Given the description of an element on the screen output the (x, y) to click on. 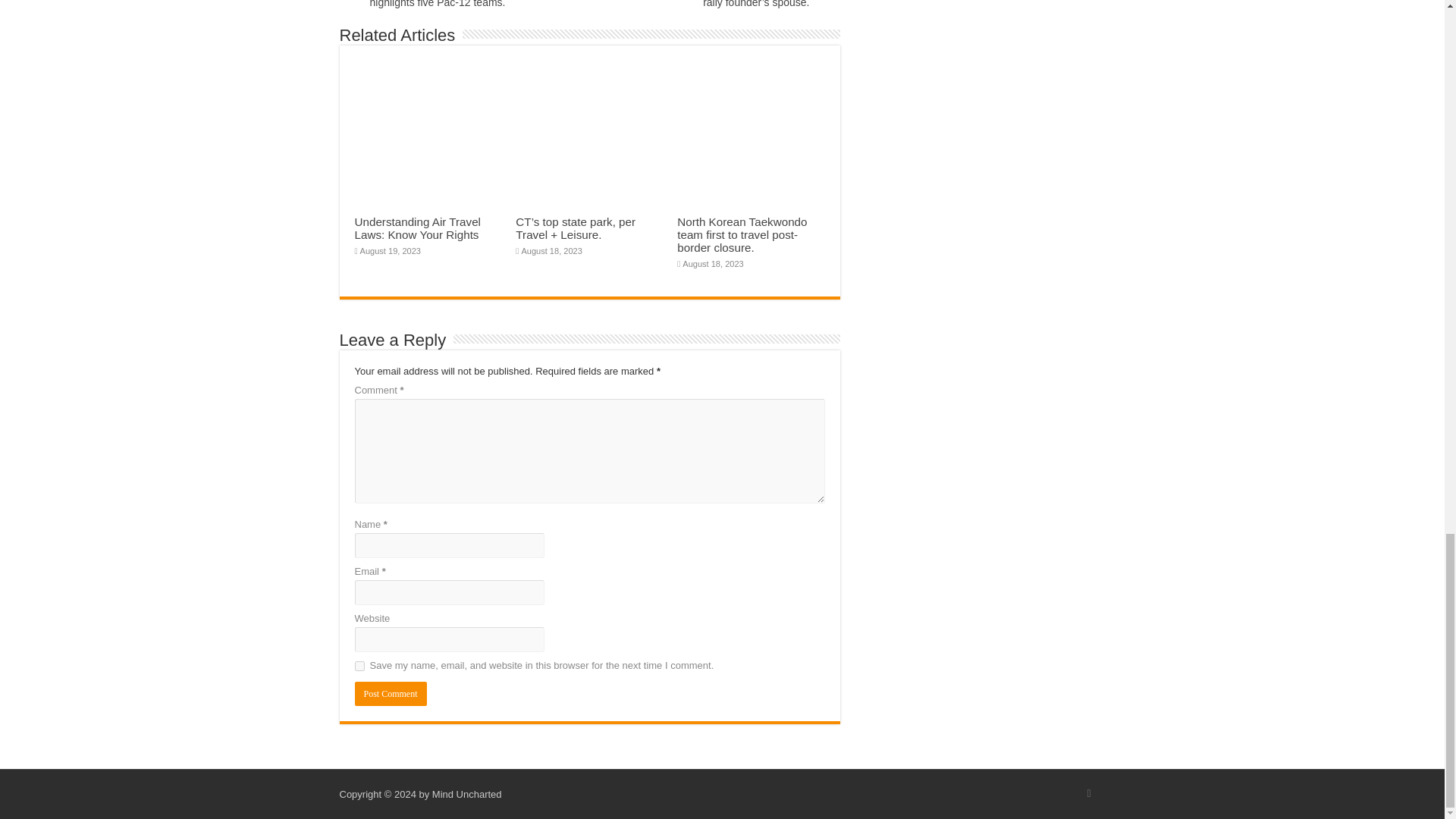
yes (360, 665)
Post Comment (390, 693)
